Given the description of an element on the screen output the (x, y) to click on. 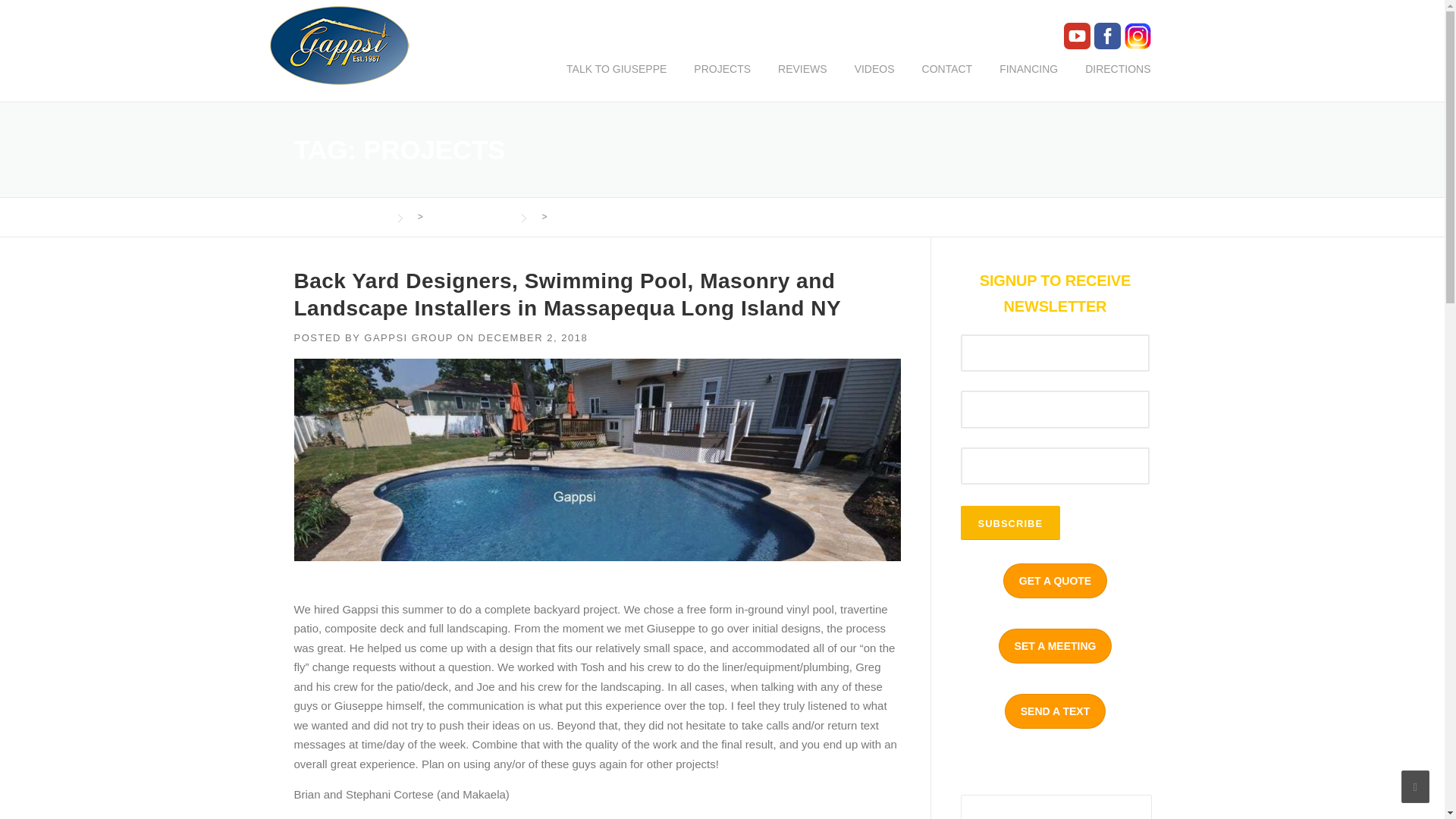
Subscribe (1009, 522)
GAPPSI GROUP (408, 337)
CONTACT (947, 80)
Go to Gappsi Group. (339, 216)
DECEMBER 2, 2018 (532, 337)
Gappsi Group (338, 43)
DIRECTIONS (1110, 80)
Contact Us Form Page (1054, 580)
FINANCING (1028, 80)
VIDEOS (874, 80)
Gappsi Group (339, 216)
REVIEWS (802, 80)
Go to Latest News. (466, 216)
TALK TO GIUSEPPE (616, 80)
